Given the description of an element on the screen output the (x, y) to click on. 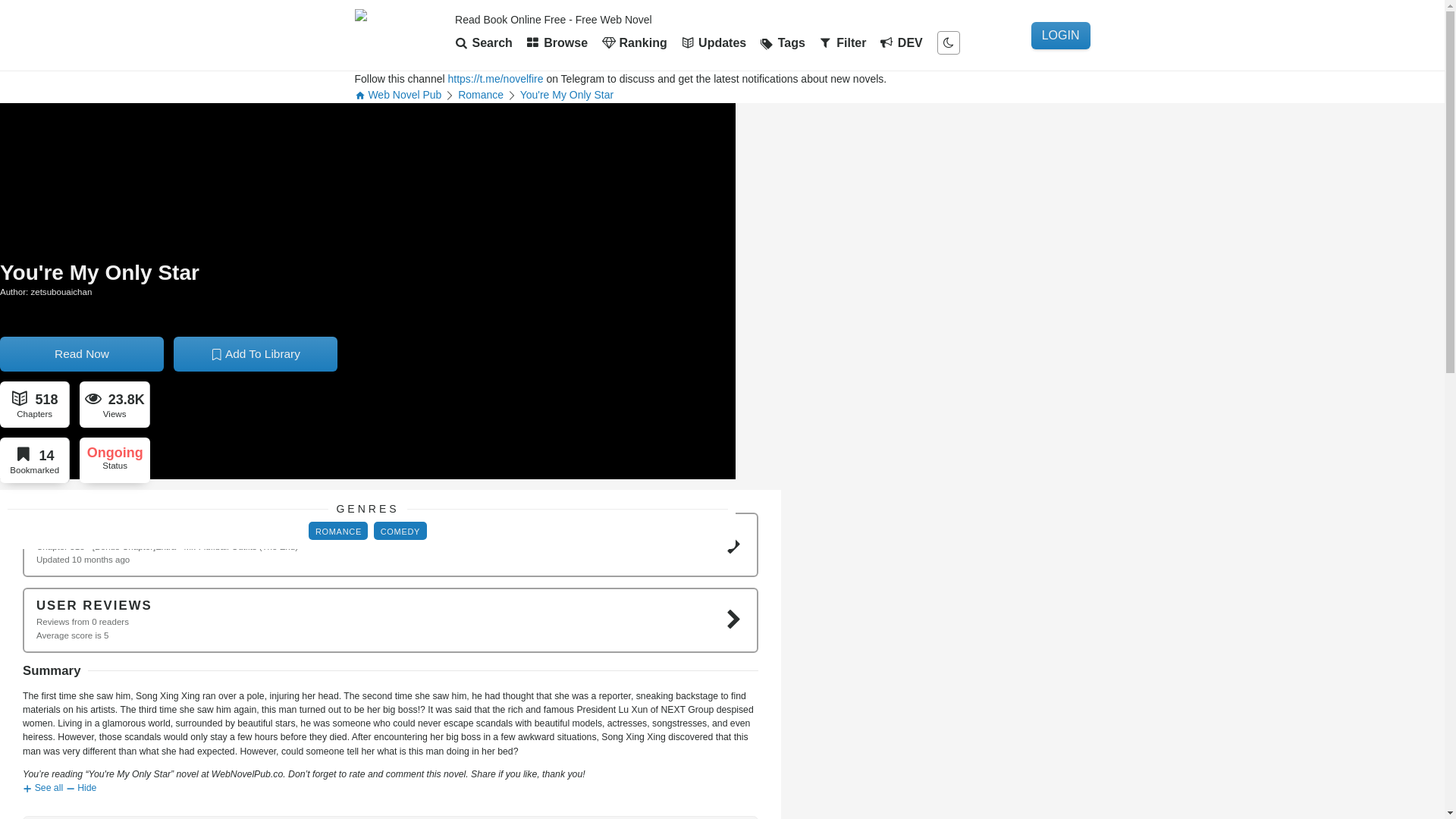
LOGIN (1060, 34)
ROMANCE (338, 531)
Tags (782, 42)
Filter (842, 42)
You're My Only Star Novel User Reviews (390, 619)
Web Novel Pub (398, 94)
Explore All Novel Tags (782, 42)
Comedy (400, 531)
See all (42, 787)
Search Novels with Advanced Filtering Function (842, 42)
Novel Ranking (634, 42)
Romance (480, 94)
Romance (480, 94)
Development Announcements (900, 42)
Explore The Recently Added Novels (557, 42)
